Given the description of an element on the screen output the (x, y) to click on. 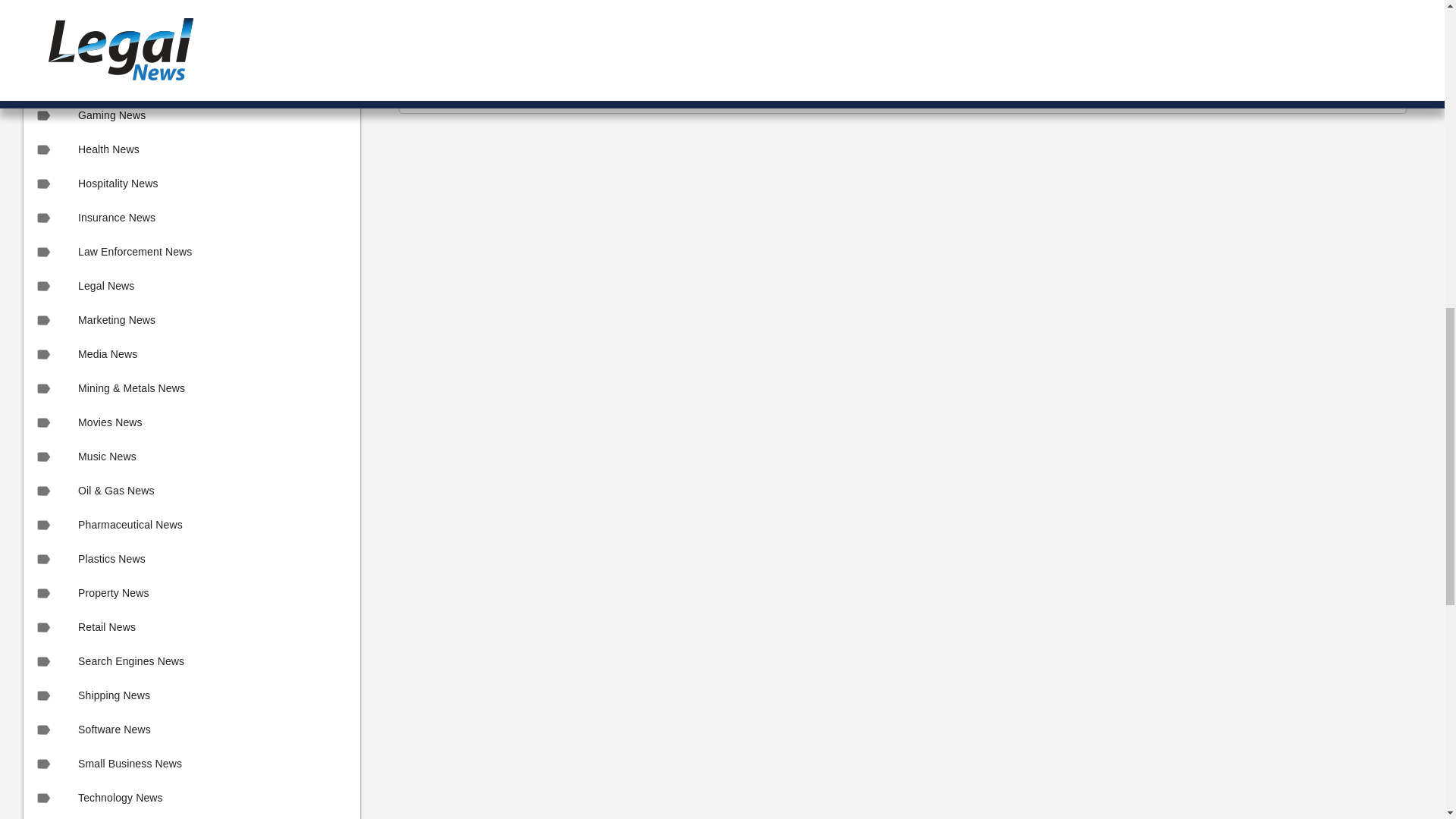
Media News (191, 354)
Environment News (191, 15)
Hospitality News (191, 183)
Legal News (191, 286)
Plastics News (191, 559)
Health News (191, 149)
Gaming News (191, 115)
Marketing News (191, 320)
Music News (191, 456)
Financial Services News (191, 47)
